Given the description of an element on the screen output the (x, y) to click on. 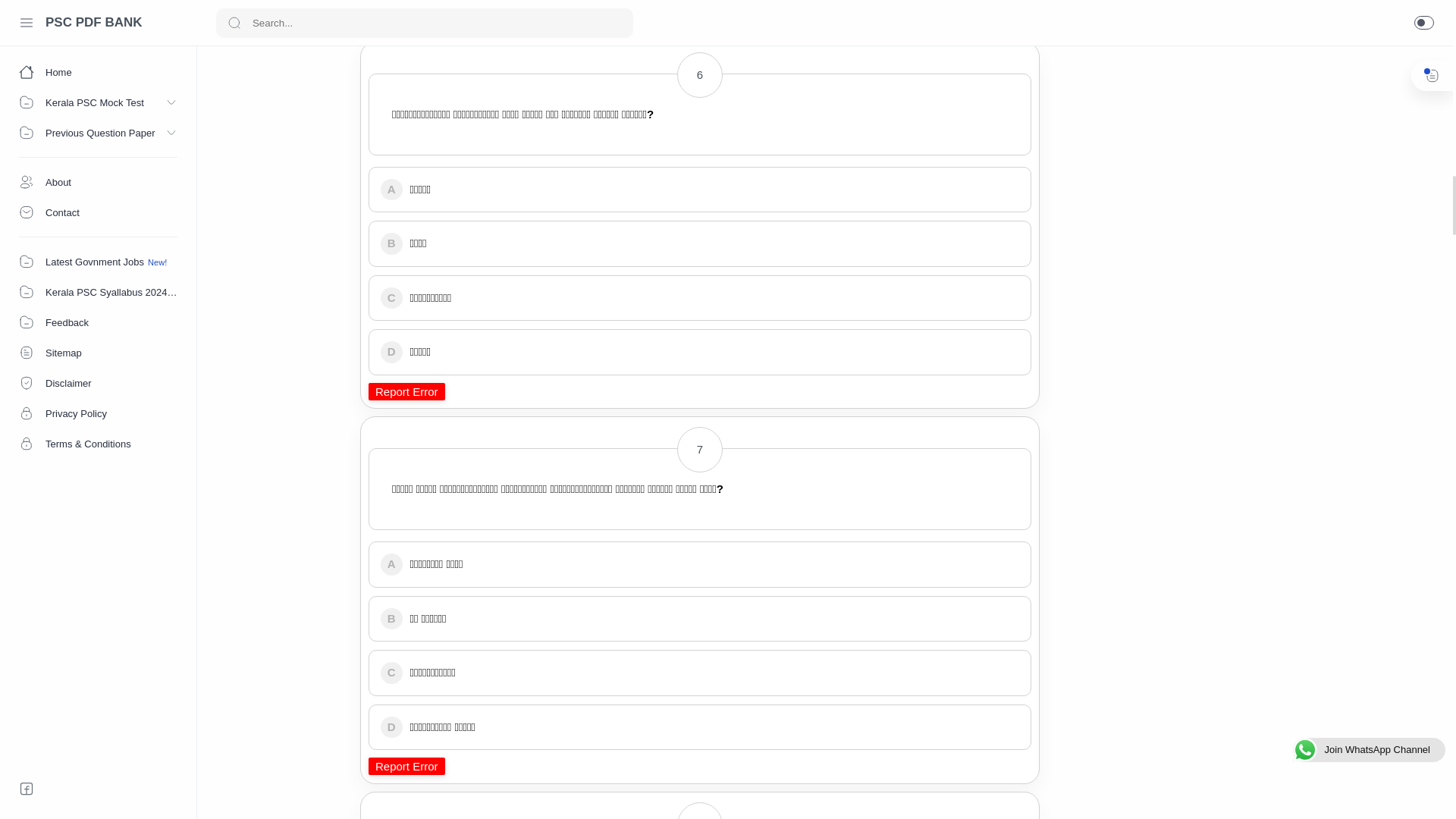
Report Error (406, 765)
Report Error (406, 391)
Report Error (406, 16)
